Given the description of an element on the screen output the (x, y) to click on. 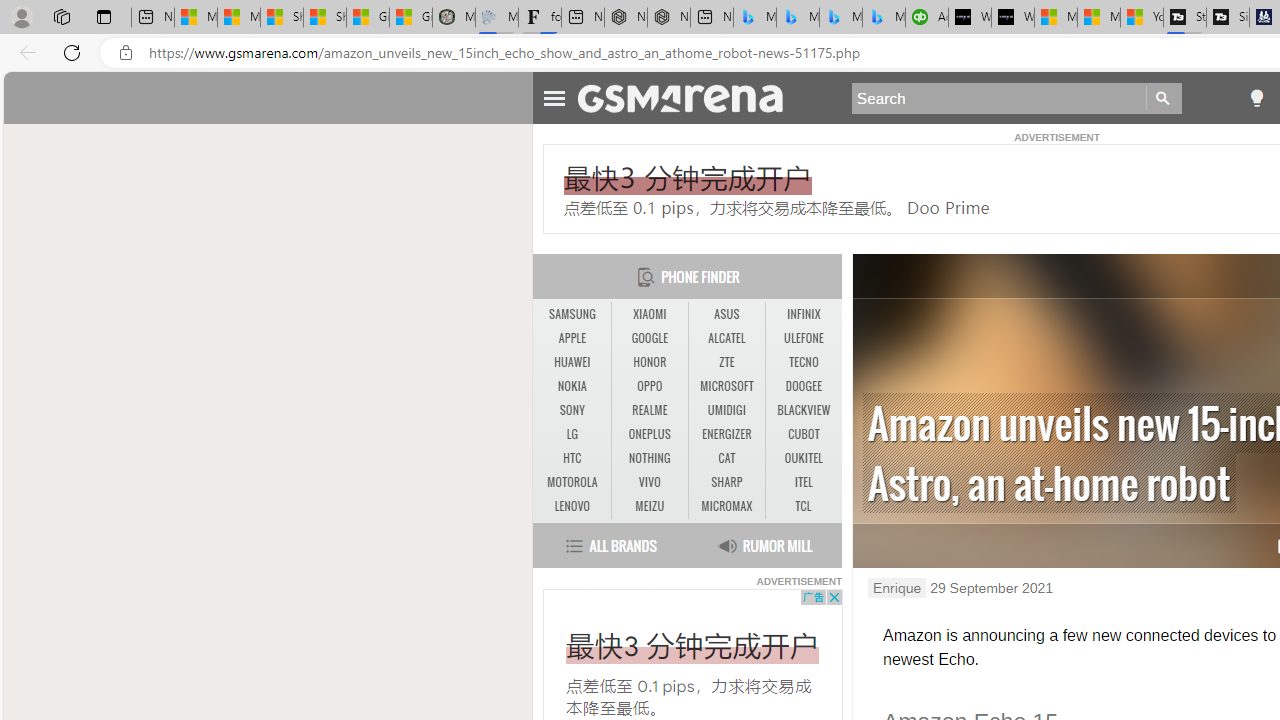
DOOGEE (803, 386)
VIVO (649, 483)
Nordace - #1 Japanese Best-Seller - Siena Smart Backpack (668, 17)
